Given the description of an element on the screen output the (x, y) to click on. 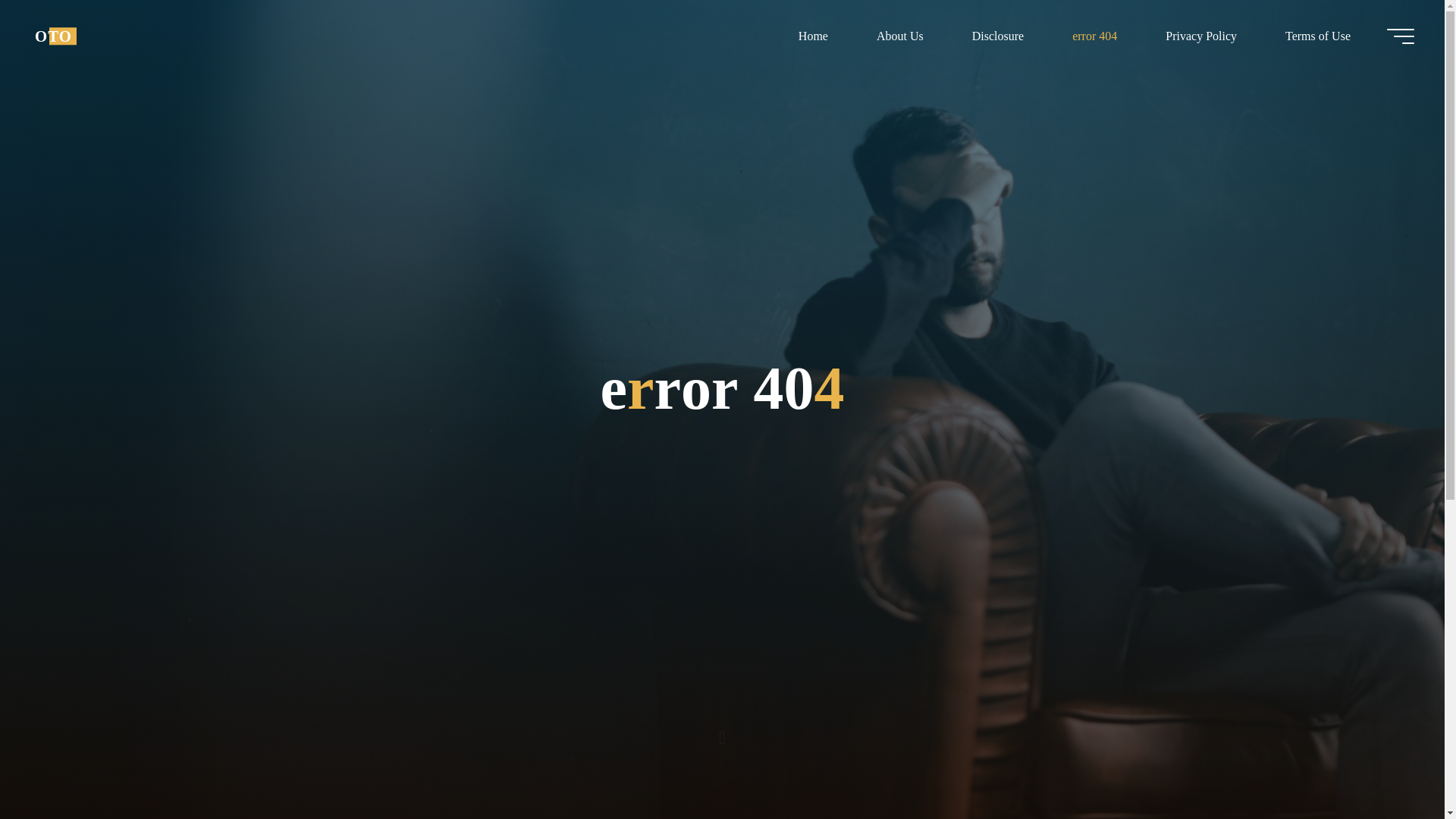
Disclosure (997, 35)
Terms of Use (1317, 35)
error 404 (1094, 35)
About Us (899, 35)
Home (812, 35)
OTO (53, 36)
Privacy Policy (1200, 35)
Read more (721, 724)
